Given the description of an element on the screen output the (x, y) to click on. 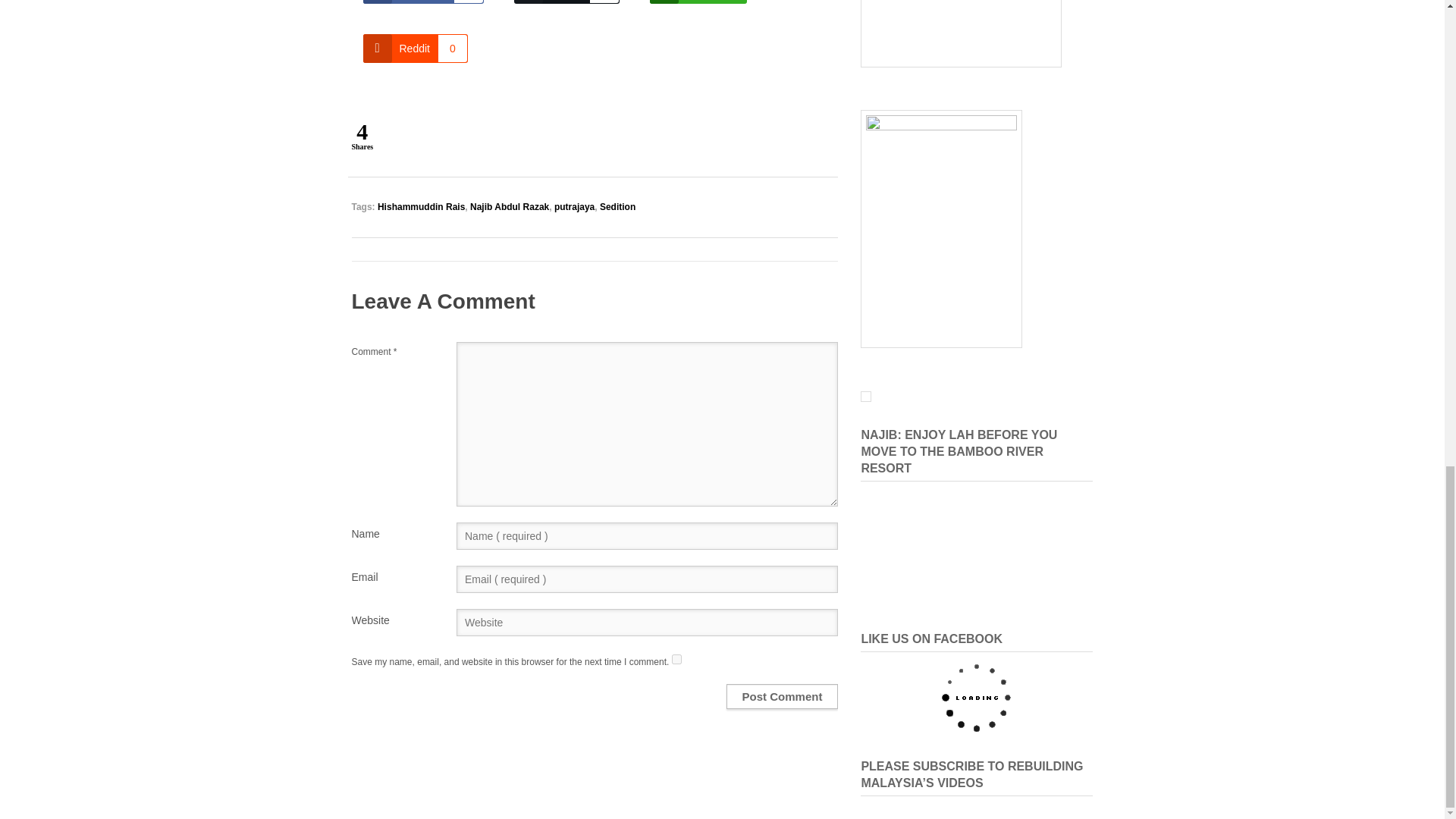
yes (422, 2)
Post Comment (676, 659)
